Given the description of an element on the screen output the (x, y) to click on. 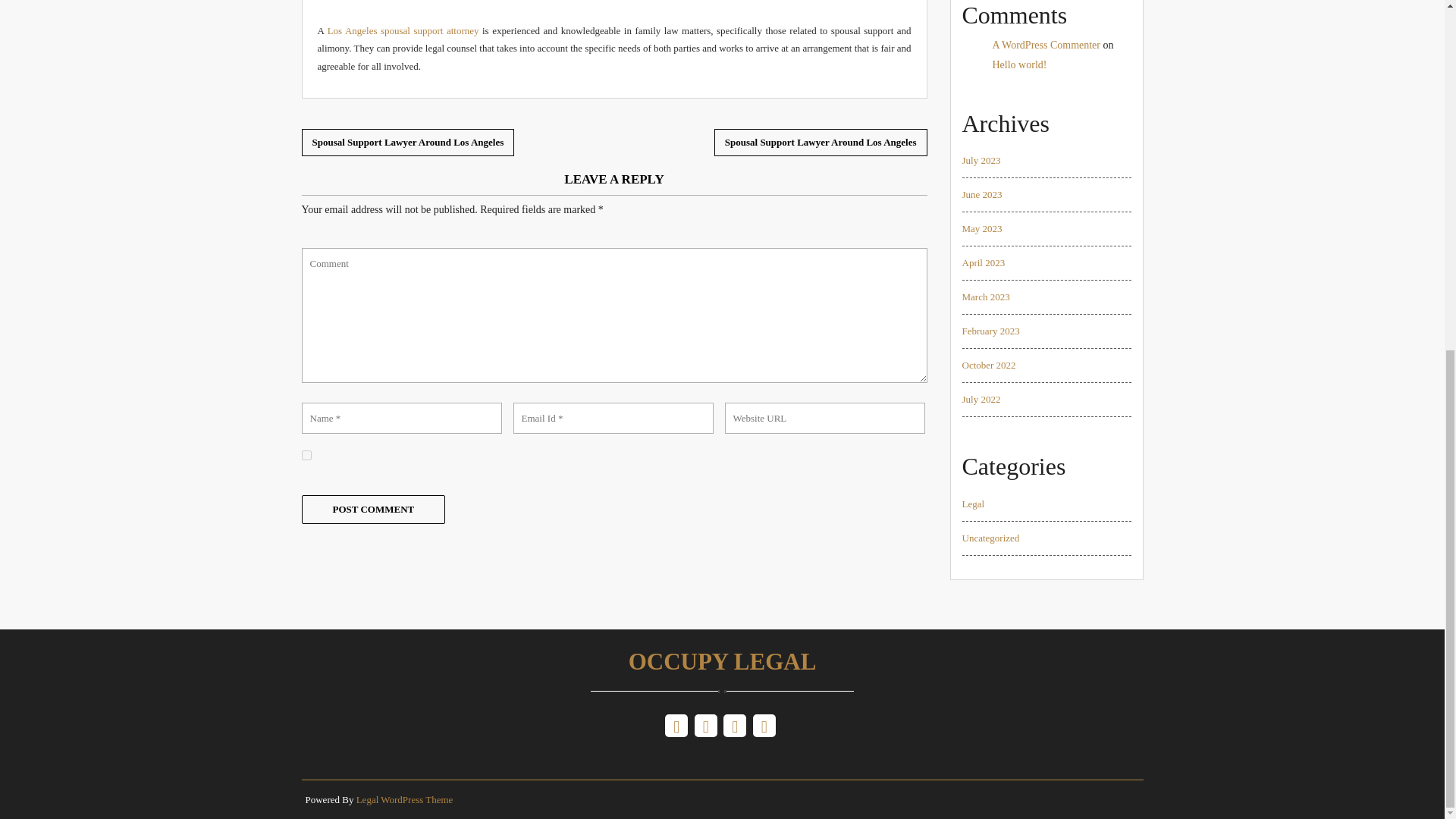
Uncategorized (989, 537)
Post Comment (373, 509)
A WordPress Commenter (1045, 44)
Los Angeles spousal support attorney (403, 30)
Legal (972, 503)
July 2023 (980, 160)
Hello world! (1018, 64)
yes (306, 455)
July 2022 (980, 398)
Spousal Support Lawyer Around Los Angeles (820, 142)
February 2023 (989, 330)
May 2023 (980, 228)
June 2023 (980, 194)
March 2023 (984, 296)
OCCUPY LEGAL (722, 668)
